Given the description of an element on the screen output the (x, y) to click on. 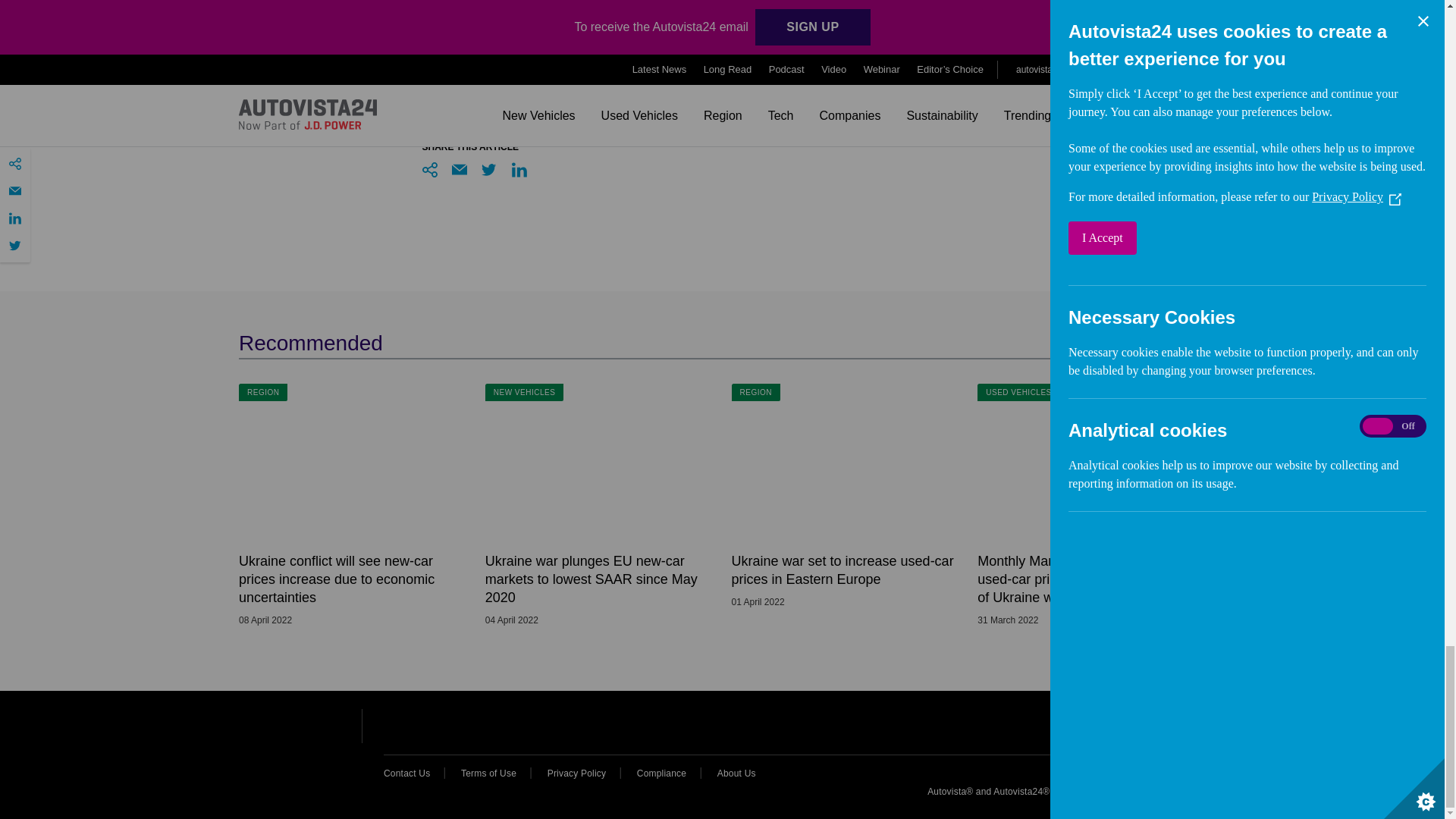
Top (1185, 729)
